Given the description of an element on the screen output the (x, y) to click on. 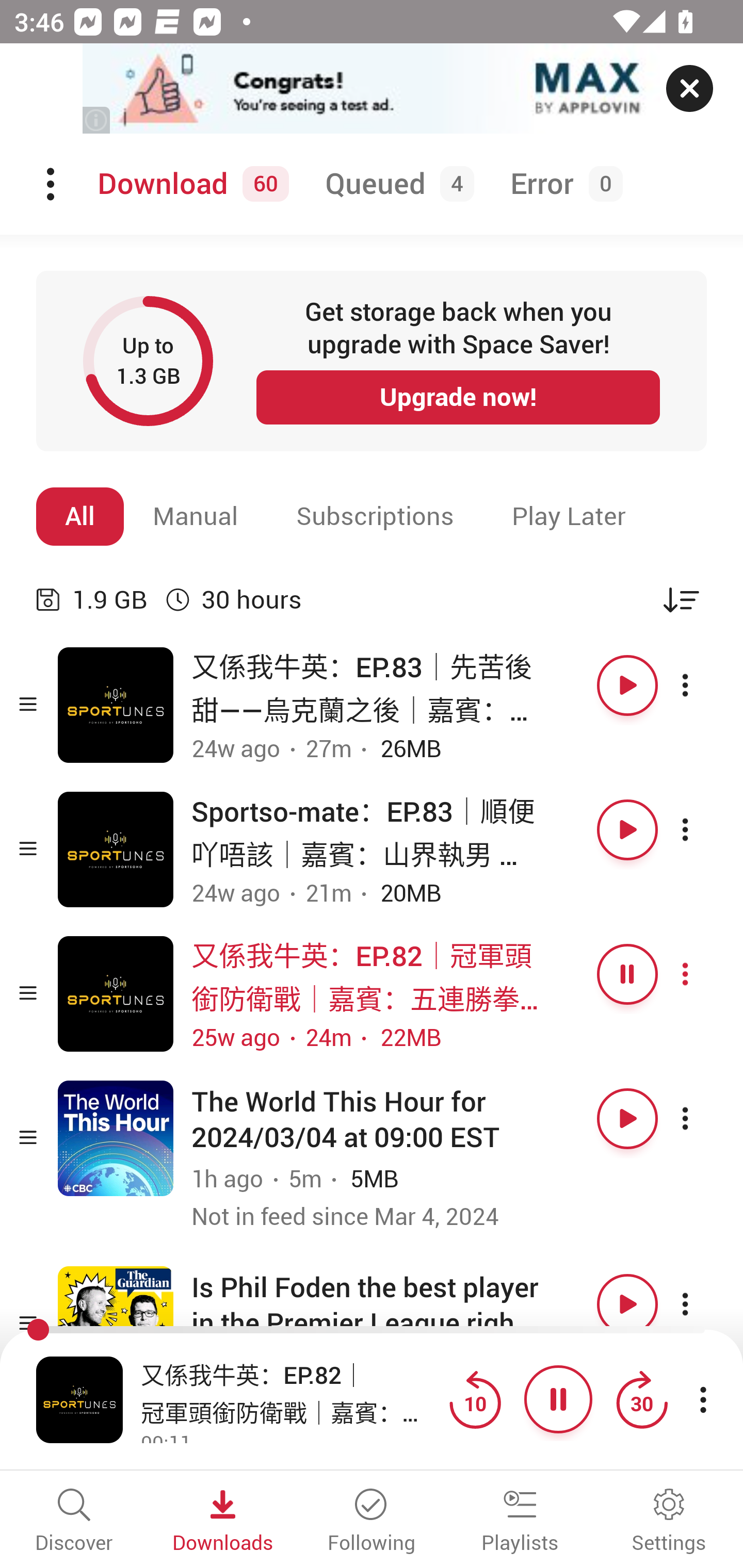
app-monetization (371, 88)
(i) (96, 119)
Menu (52, 184)
 Download 60 (189, 184)
 Queued 4 (396, 184)
 Error 0 (562, 184)
All (80, 516)
Manual (195, 516)
Subscriptions (374, 516)
Play Later (568, 516)
Change sort order (681, 599)
Play button (627, 685)
More options (703, 685)
Open series Sportunes HK (115, 705)
Play button (627, 830)
More options (703, 830)
Open series Sportunes HK (115, 849)
Pause button (627, 974)
More options (703, 974)
Open series Sportunes HK (115, 994)
Play button (627, 1118)
More options (703, 1118)
Open series The World This Hour (115, 1138)
Play button (627, 1304)
More options (703, 1304)
Open series Football Weekly (115, 1323)
Open fullscreen player (79, 1399)
又係我牛英：EP.82｜冠軍頭銜防衛戰｜嘉賓：五連勝拳后 楊曉茹 (290, 1392)
More player controls (703, 1399)
Pause button (558, 1398)
Jump back (475, 1399)
Jump forward (641, 1399)
Discover (74, 1521)
Downloads (222, 1521)
Following (371, 1521)
Playlists (519, 1521)
Settings (668, 1521)
